Given the description of an element on the screen output the (x, y) to click on. 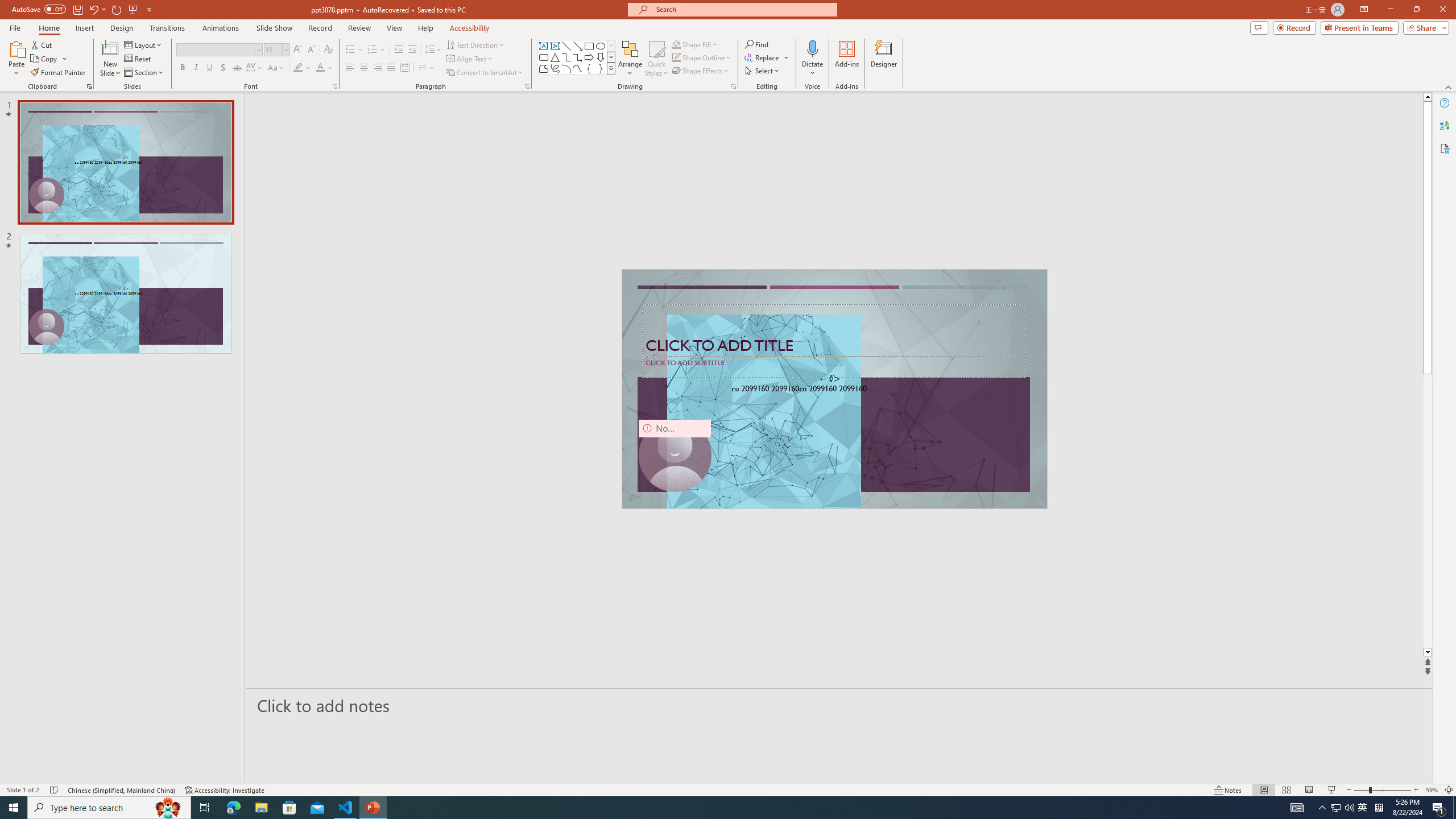
Shadow (223, 67)
Arc (566, 68)
AutomationID: ShapesInsertGallery (576, 57)
Oval (600, 45)
An abstract genetic concept (833, 388)
Distributed (404, 67)
TextBox 7 (829, 378)
Italic (195, 67)
Rectangle (589, 45)
